Given the description of an element on the screen output the (x, y) to click on. 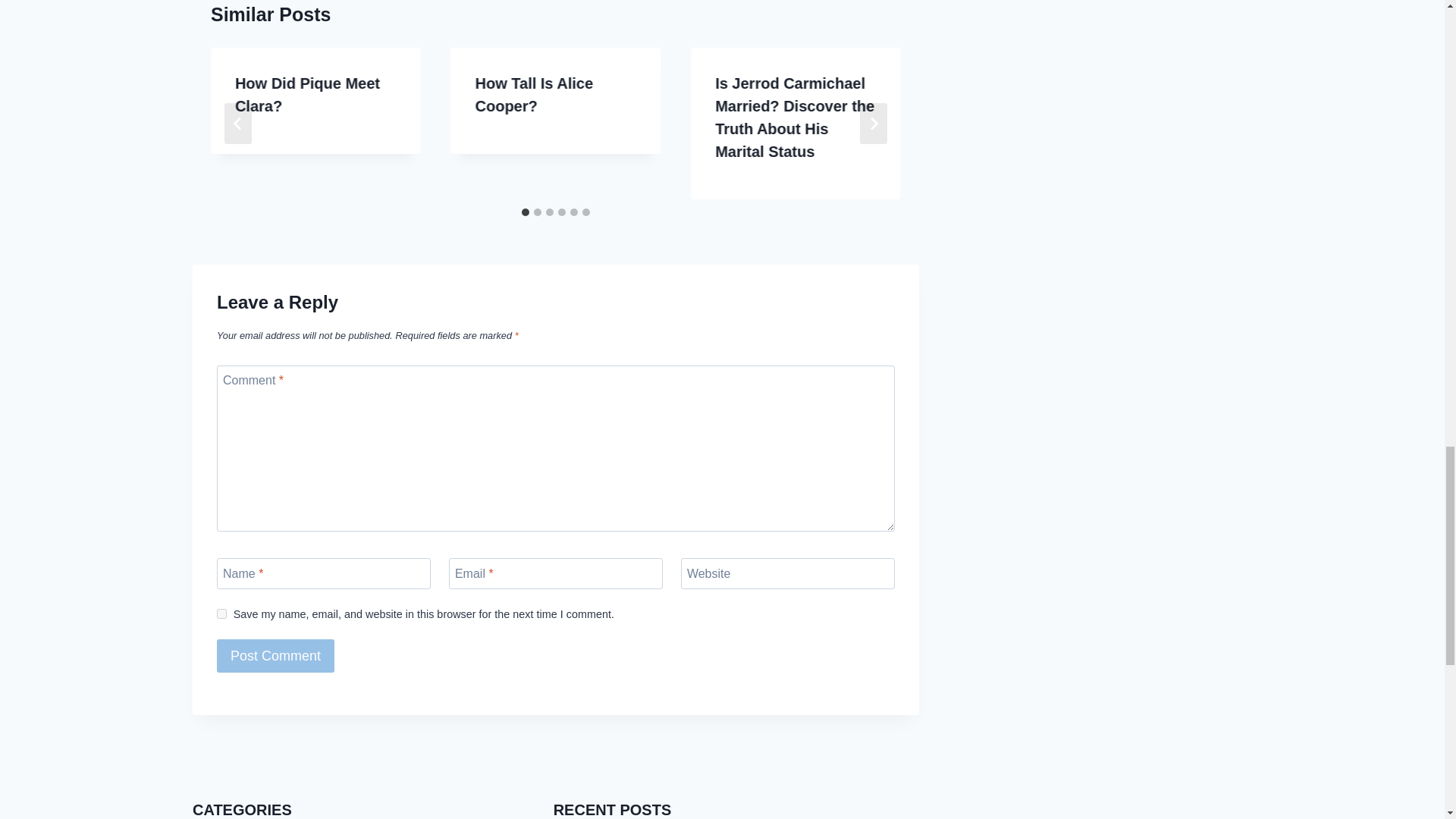
Post Comment (275, 655)
How Did Pique Meet Clara? (307, 94)
How Tall Is Alice Cooper? (535, 94)
yes (221, 614)
